Given the description of an element on the screen output the (x, y) to click on. 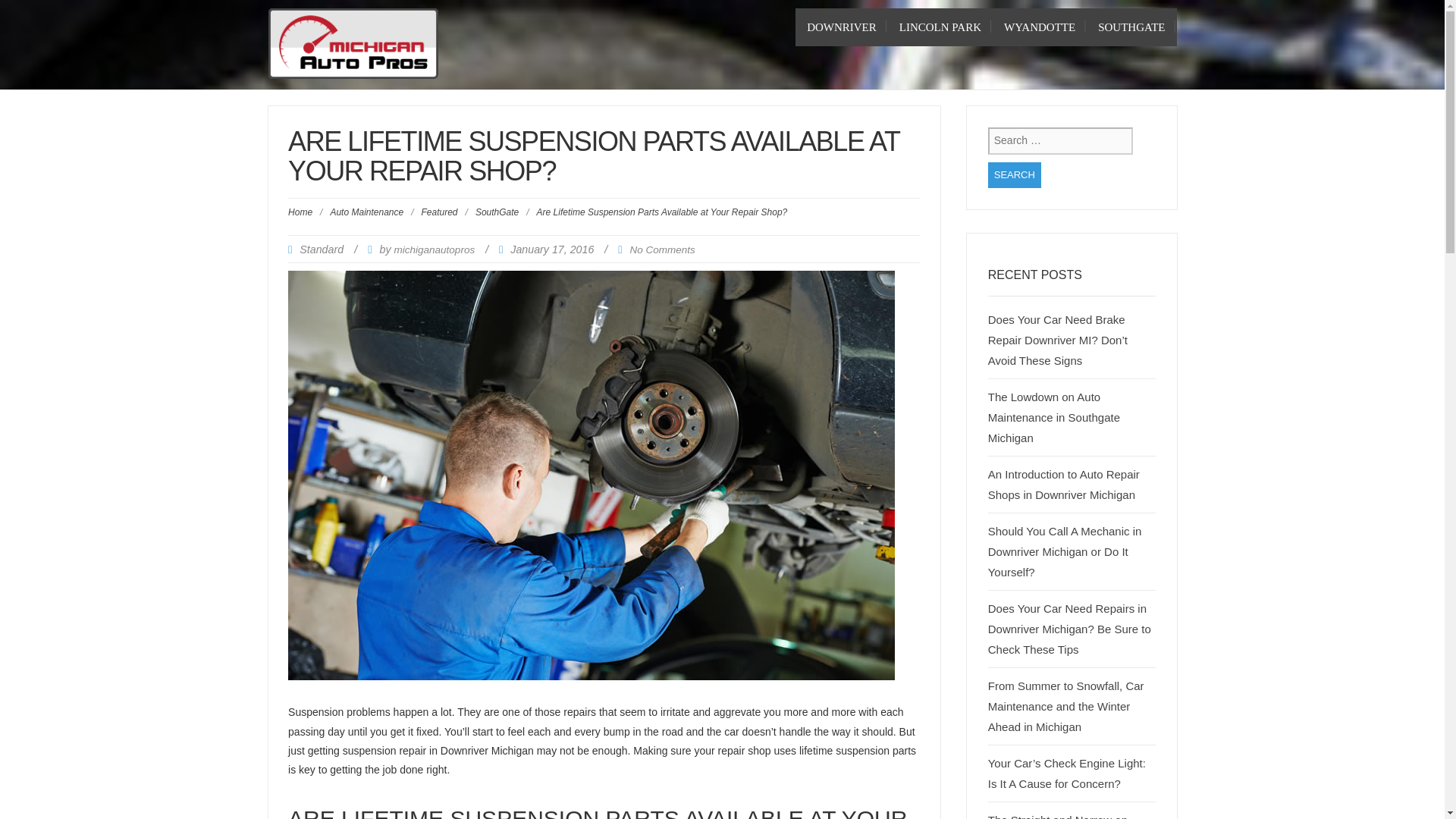
Lincoln Park (940, 26)
Wyandotte (1039, 26)
Search (1014, 175)
Home (300, 212)
DOWNRIVER (841, 26)
Search (1014, 175)
SouthGate (1131, 26)
No Comments (661, 249)
